Given the description of an element on the screen output the (x, y) to click on. 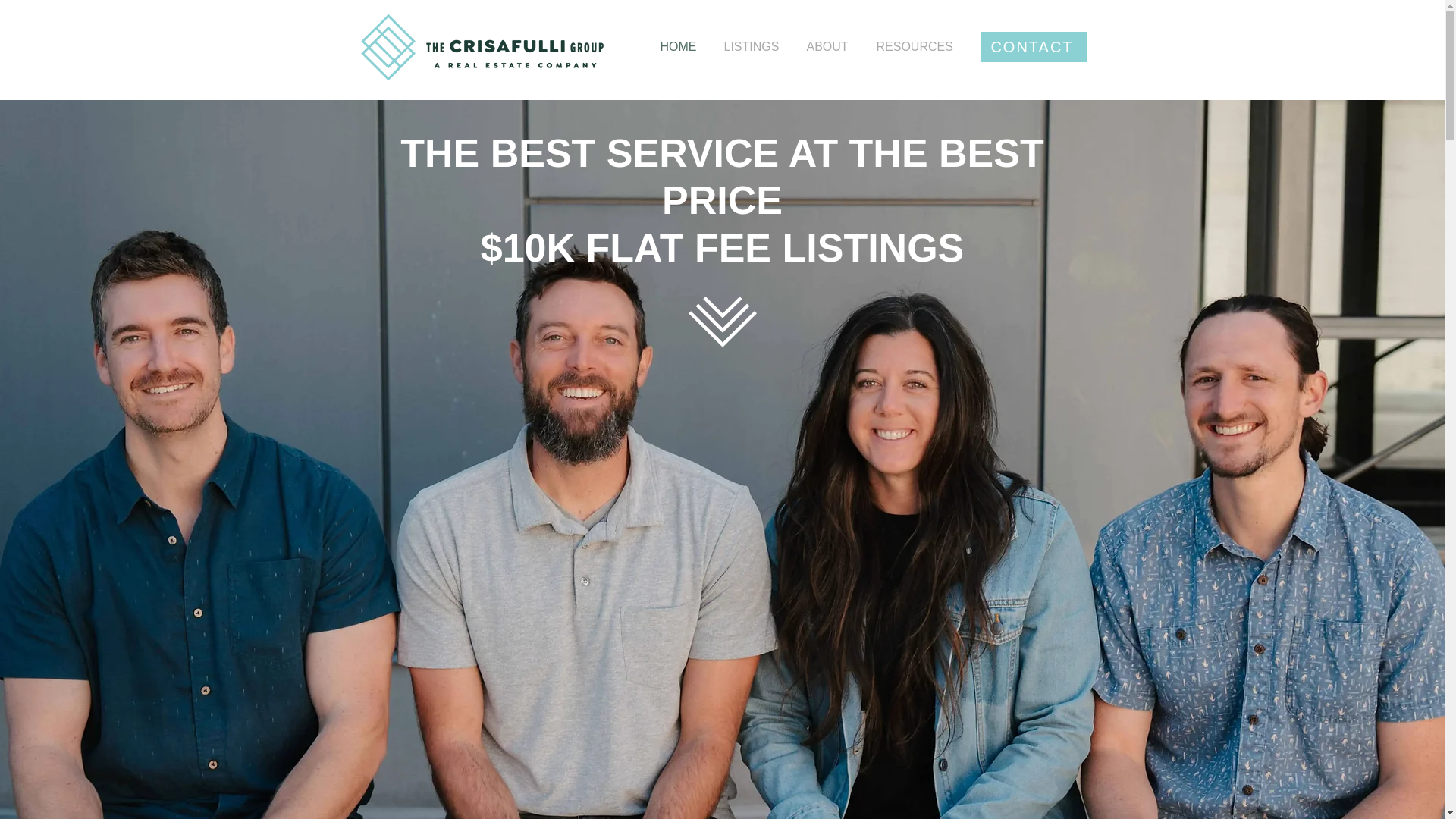
ABOUT (829, 46)
LISTINGS (753, 46)
CONTACT (1032, 46)
HOME (681, 46)
